Given the description of an element on the screen output the (x, y) to click on. 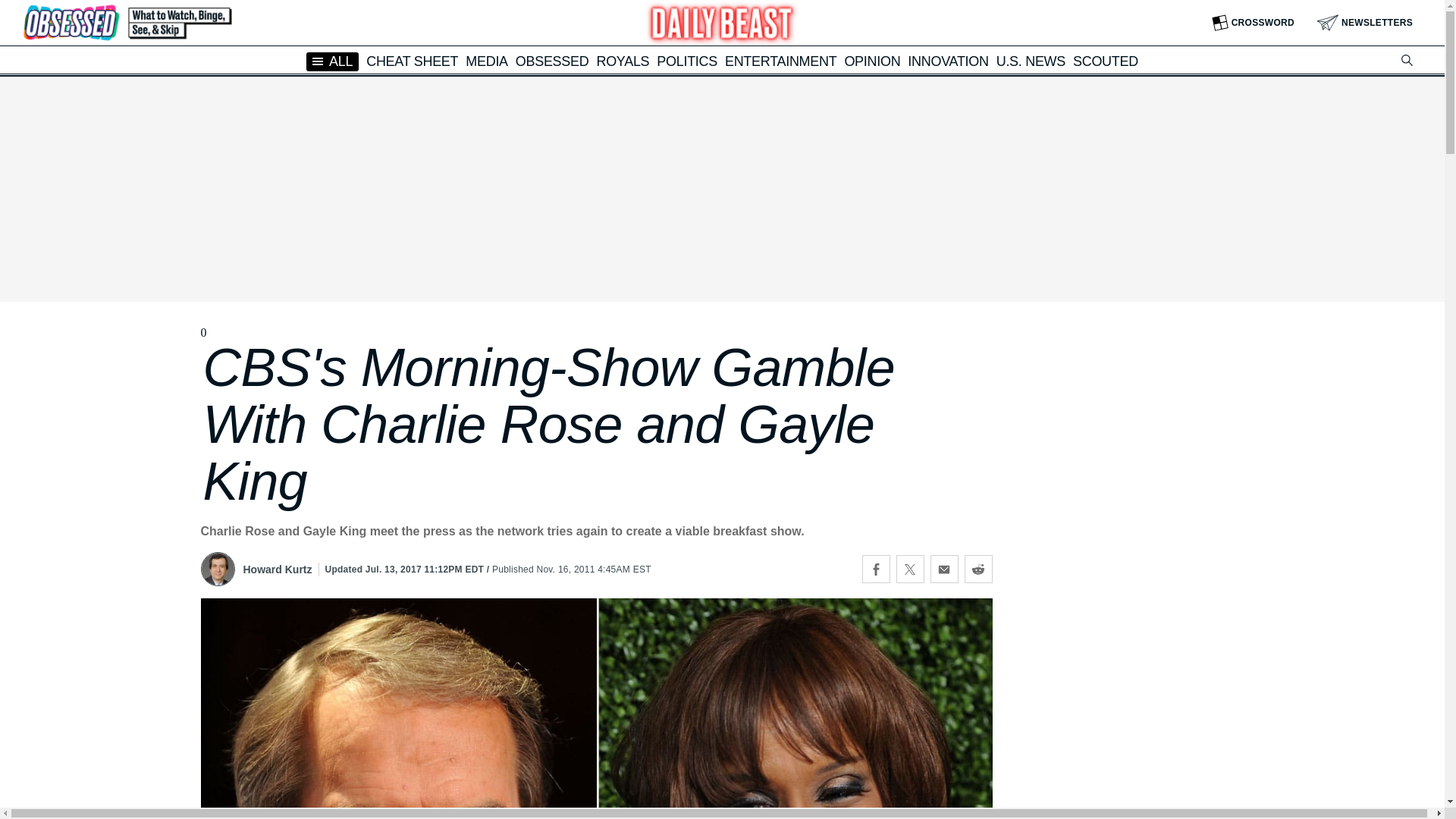
ALL (331, 60)
CHEAT SHEET (412, 60)
U.S. NEWS (1030, 60)
ROYALS (622, 60)
OPINION (871, 60)
SCOUTED (1105, 60)
POLITICS (686, 60)
ENTERTAINMENT (780, 60)
OBSESSED (552, 60)
INNOVATION (947, 60)
CROSSWORD (1252, 22)
NEWSLETTERS (1364, 22)
MEDIA (486, 60)
